Given the description of an element on the screen output the (x, y) to click on. 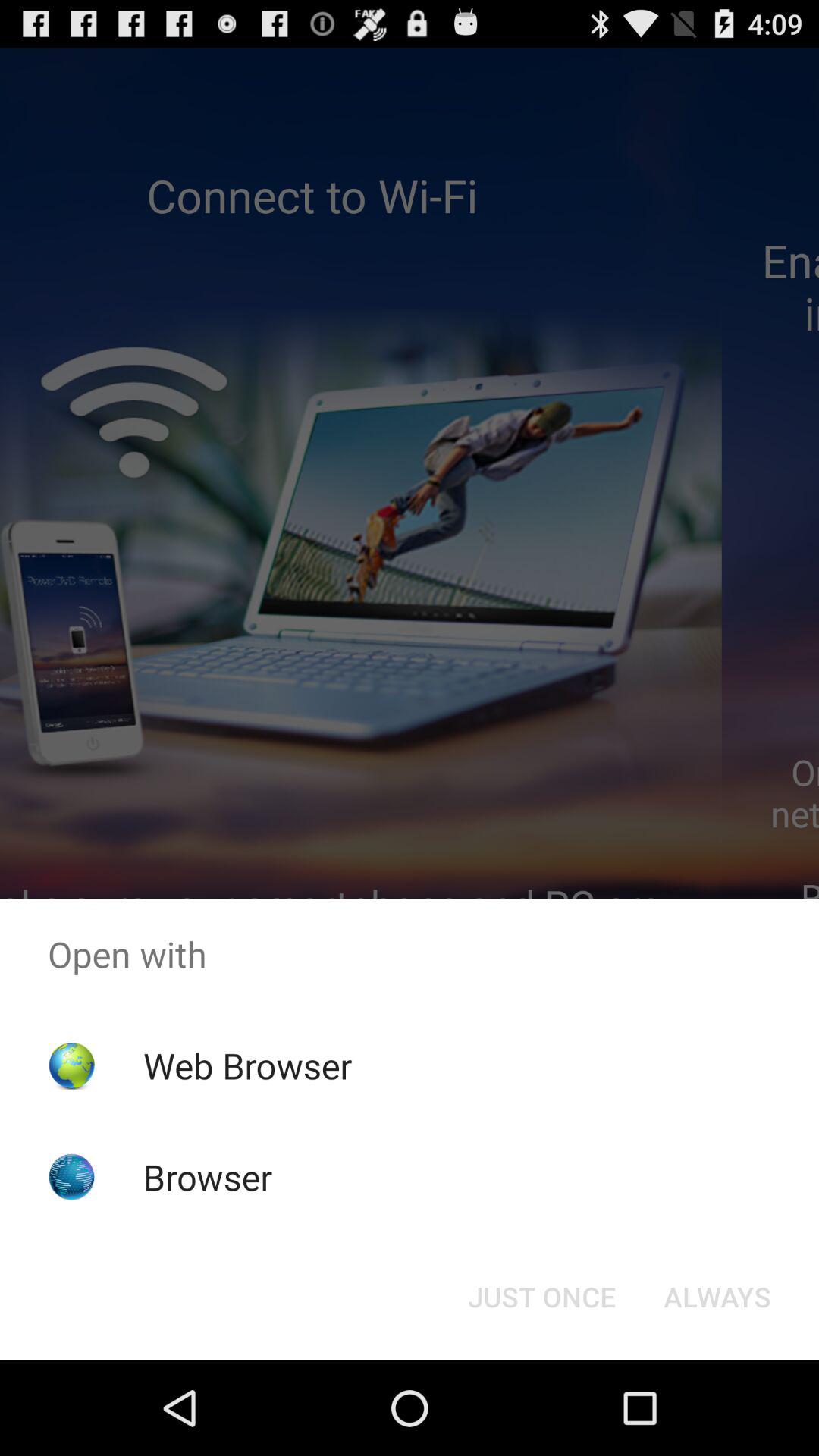
tap the item above the browser app (247, 1065)
